Given the description of an element on the screen output the (x, y) to click on. 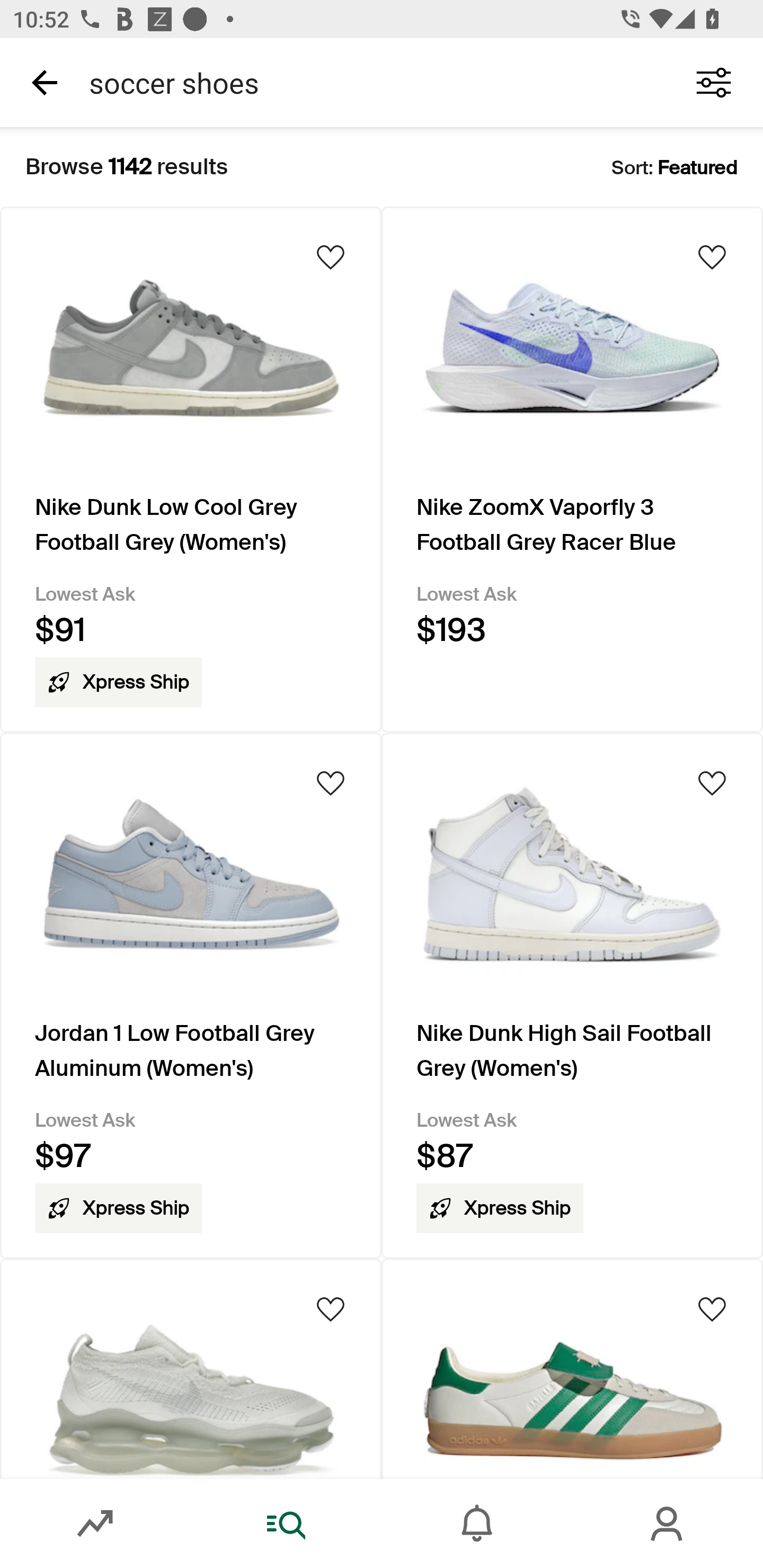
soccer shoes (370, 82)
Product Image (190, 1368)
Product Image (572, 1368)
Market (95, 1523)
Inbox (476, 1523)
Account (667, 1523)
